Given the description of an element on the screen output the (x, y) to click on. 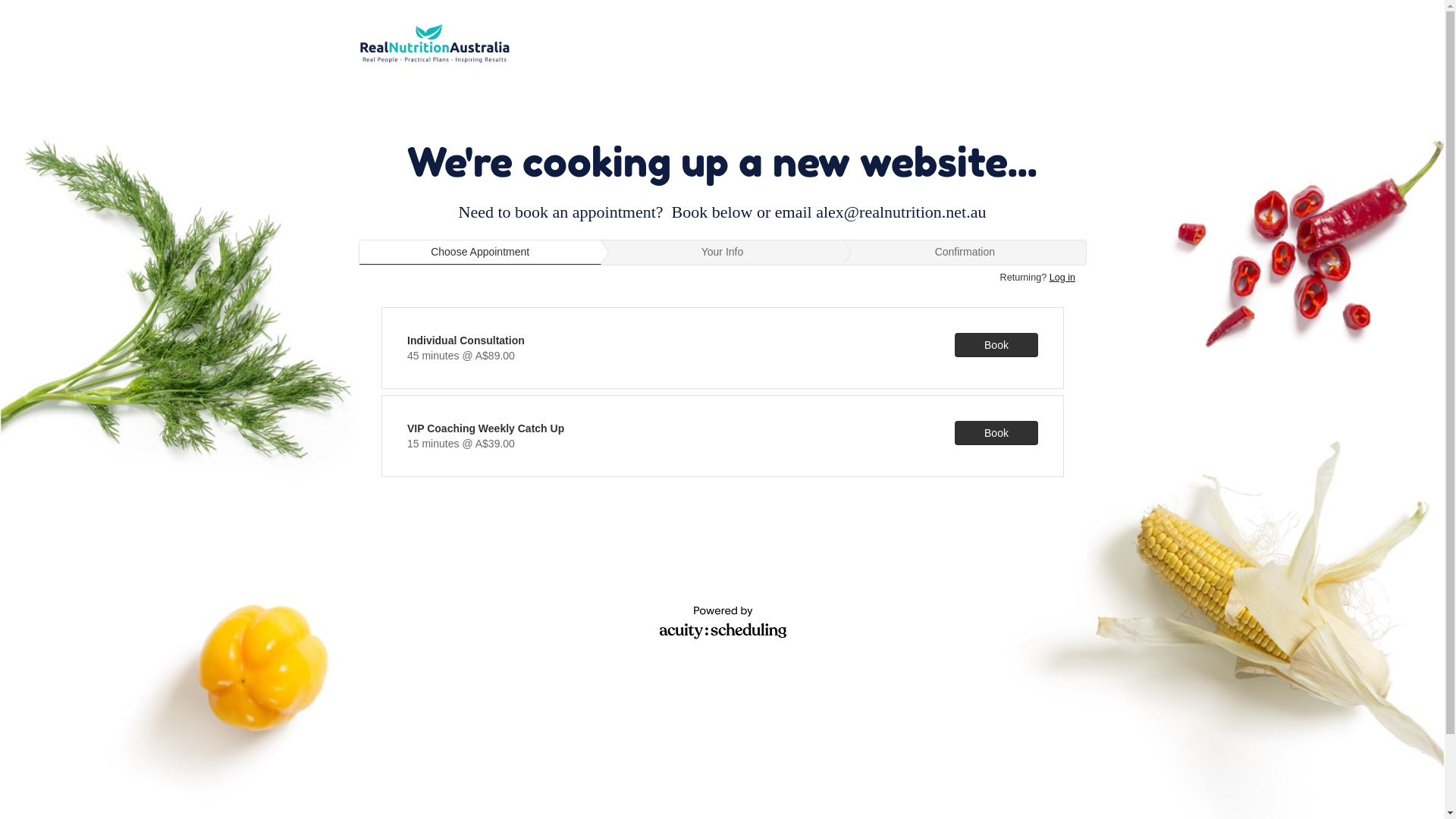
Schedule Appointment Element type: hover (721, 472)
